Given the description of an element on the screen output the (x, y) to click on. 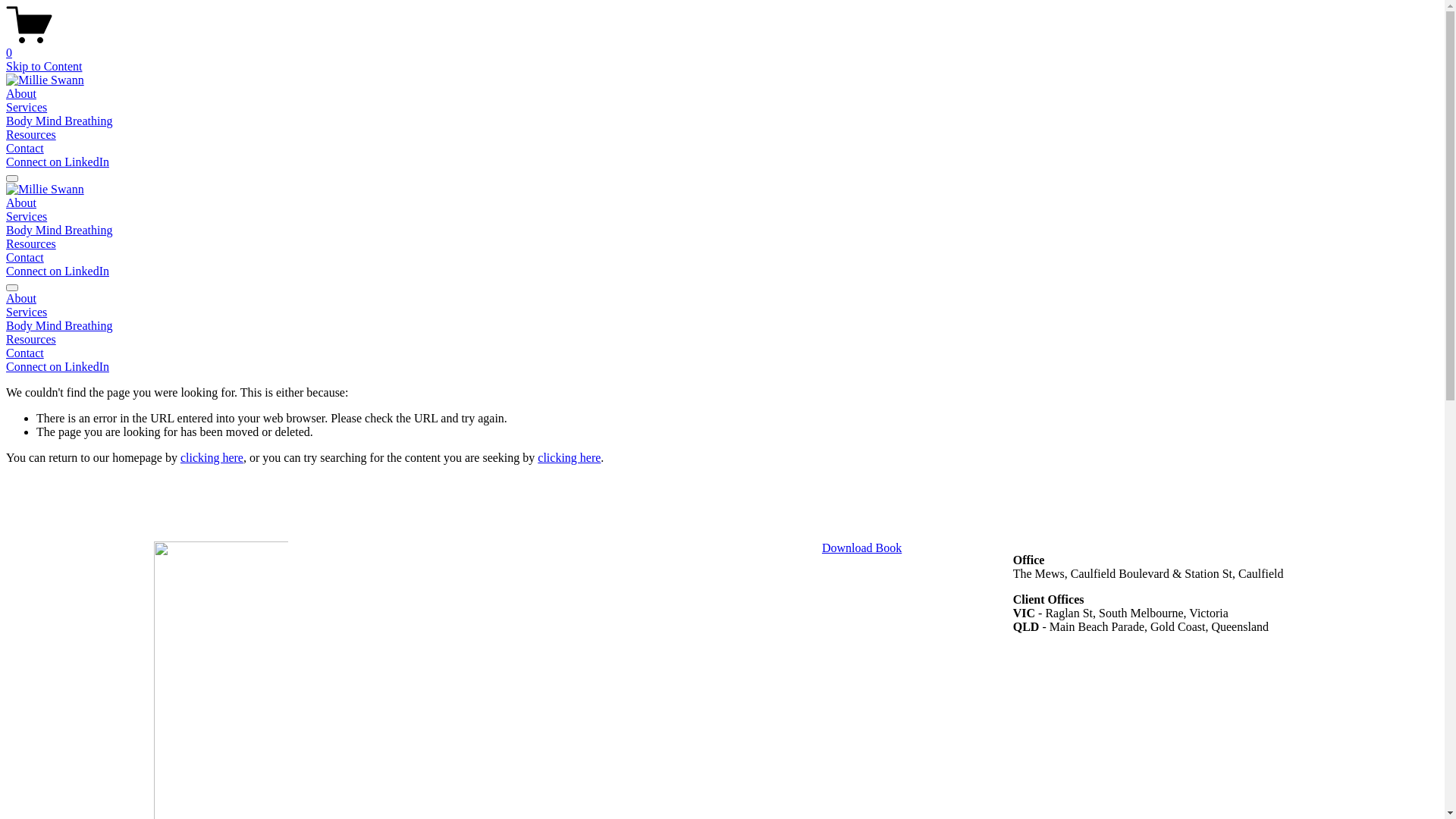
Resources Element type: text (31, 134)
Body Mind Breathing Element type: text (722, 325)
About Element type: text (722, 298)
Services Element type: text (722, 312)
Resources Element type: text (31, 243)
Services Element type: text (26, 106)
Download Book Element type: text (861, 547)
clicking here Element type: text (568, 457)
clicking here Element type: text (211, 457)
About Element type: text (21, 93)
Connect on LinkedIn Element type: text (57, 270)
Resources Element type: text (722, 339)
0 Element type: text (722, 45)
Contact Element type: text (24, 257)
Skip to Content Element type: text (43, 65)
Services Element type: text (26, 216)
Connect on LinkedIn Element type: text (57, 366)
Connect on LinkedIn Element type: text (57, 161)
About Element type: text (21, 202)
Body Mind Breathing Element type: text (59, 229)
Contact Element type: text (24, 147)
Body Mind Breathing Element type: text (59, 120)
Contact Element type: text (722, 353)
